Given the description of an element on the screen output the (x, y) to click on. 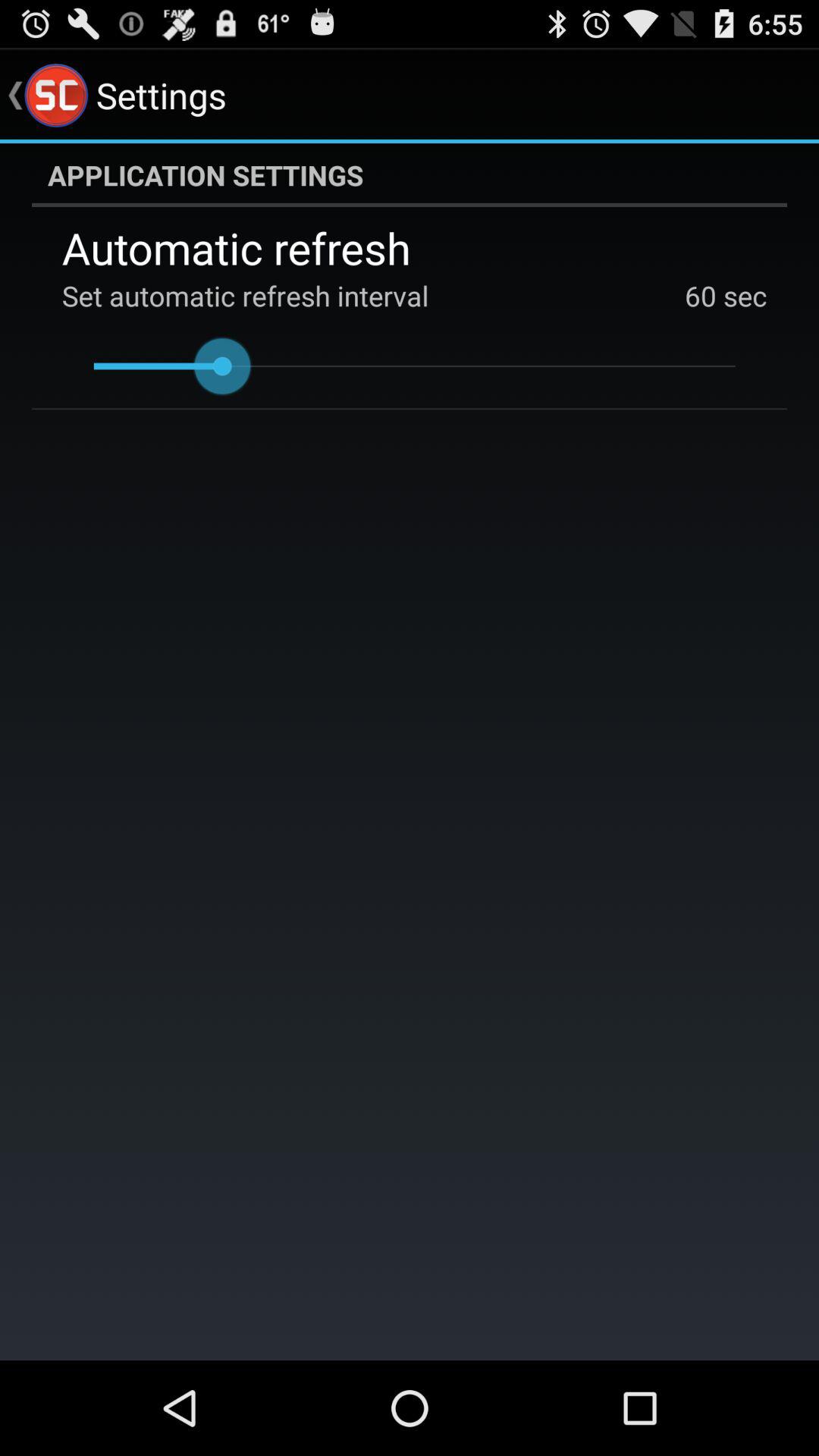
swipe until application settings (409, 175)
